Given the description of an element on the screen output the (x, y) to click on. 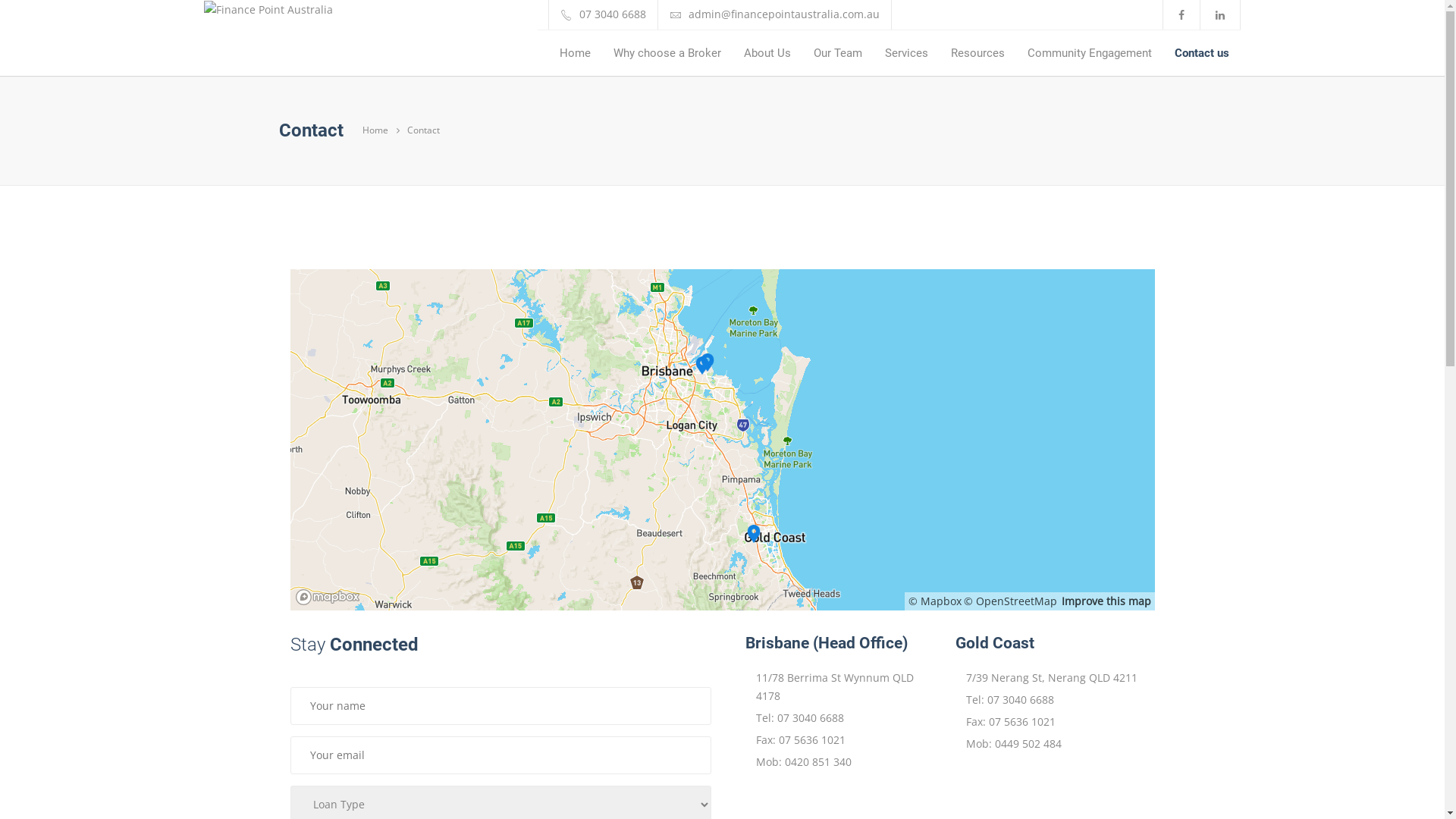
Services Element type: text (906, 52)
Our Team Element type: text (837, 52)
Improve this map Element type: text (1106, 601)
Community Engagement Element type: text (1089, 52)
Home Element type: text (380, 130)
About Us Element type: text (766, 52)
Resources Element type: text (977, 52)
Contact us Element type: text (1201, 52)
07 3040 6688 Element type: text (612, 14)
Home Element type: text (574, 52)
Why choose a Broker Element type: text (667, 52)
admin@financepointaustralia.com.au Element type: text (783, 14)
